Given the description of an element on the screen output the (x, y) to click on. 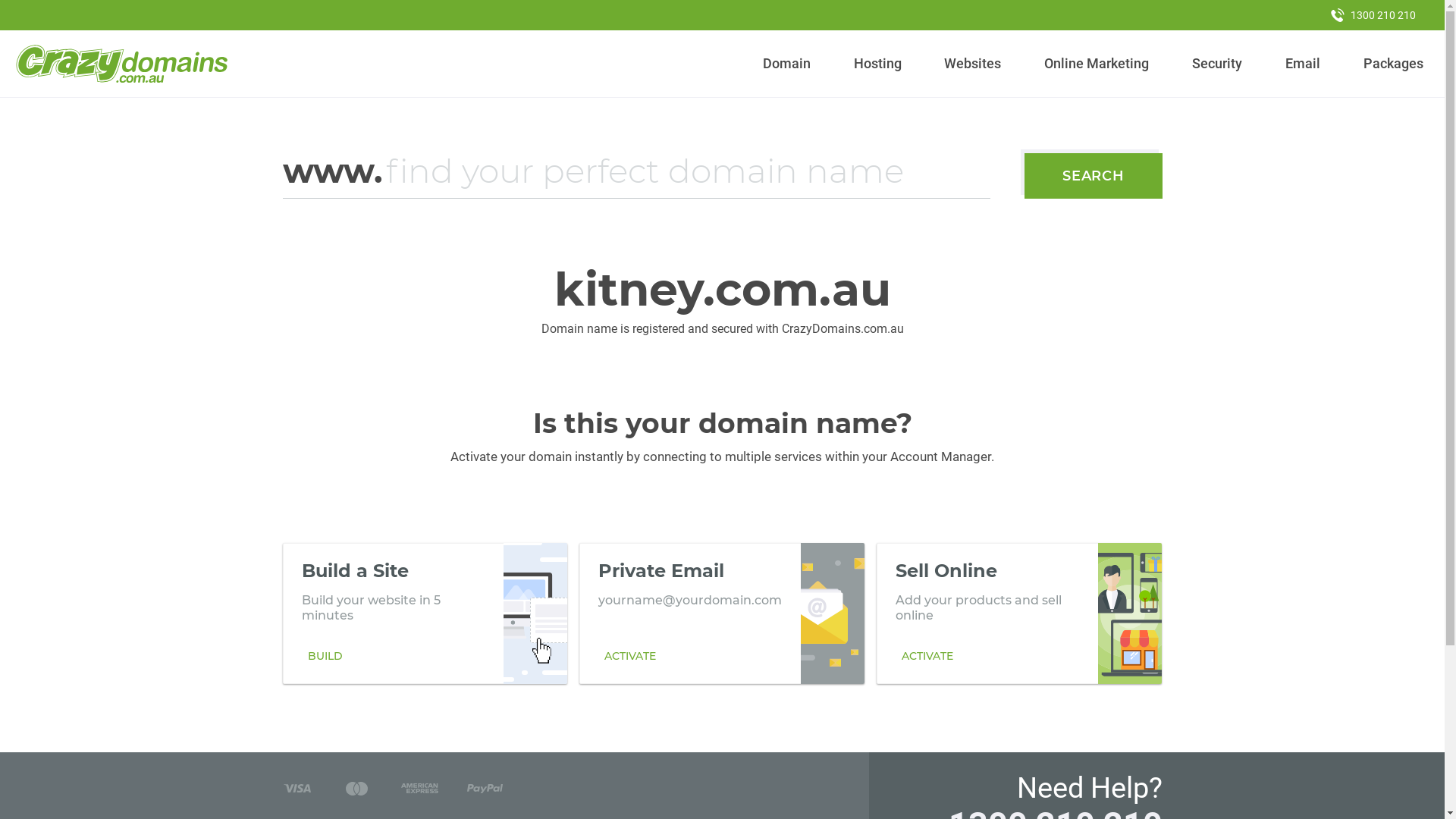
1300 210 210 Element type: text (1373, 15)
Hosting Element type: text (877, 63)
Sell Online
Add your products and sell online
ACTIVATE Element type: text (1018, 613)
Security Element type: text (1217, 63)
Private Email
yourname@yourdomain.com
ACTIVATE Element type: text (721, 613)
Websites Element type: text (972, 63)
Email Element type: text (1302, 63)
Build a Site
Build your website in 5 minutes
BUILD Element type: text (424, 613)
Online Marketing Element type: text (1096, 63)
Domain Element type: text (786, 63)
Packages Element type: text (1392, 63)
SEARCH Element type: text (1092, 175)
